Given the description of an element on the screen output the (x, y) to click on. 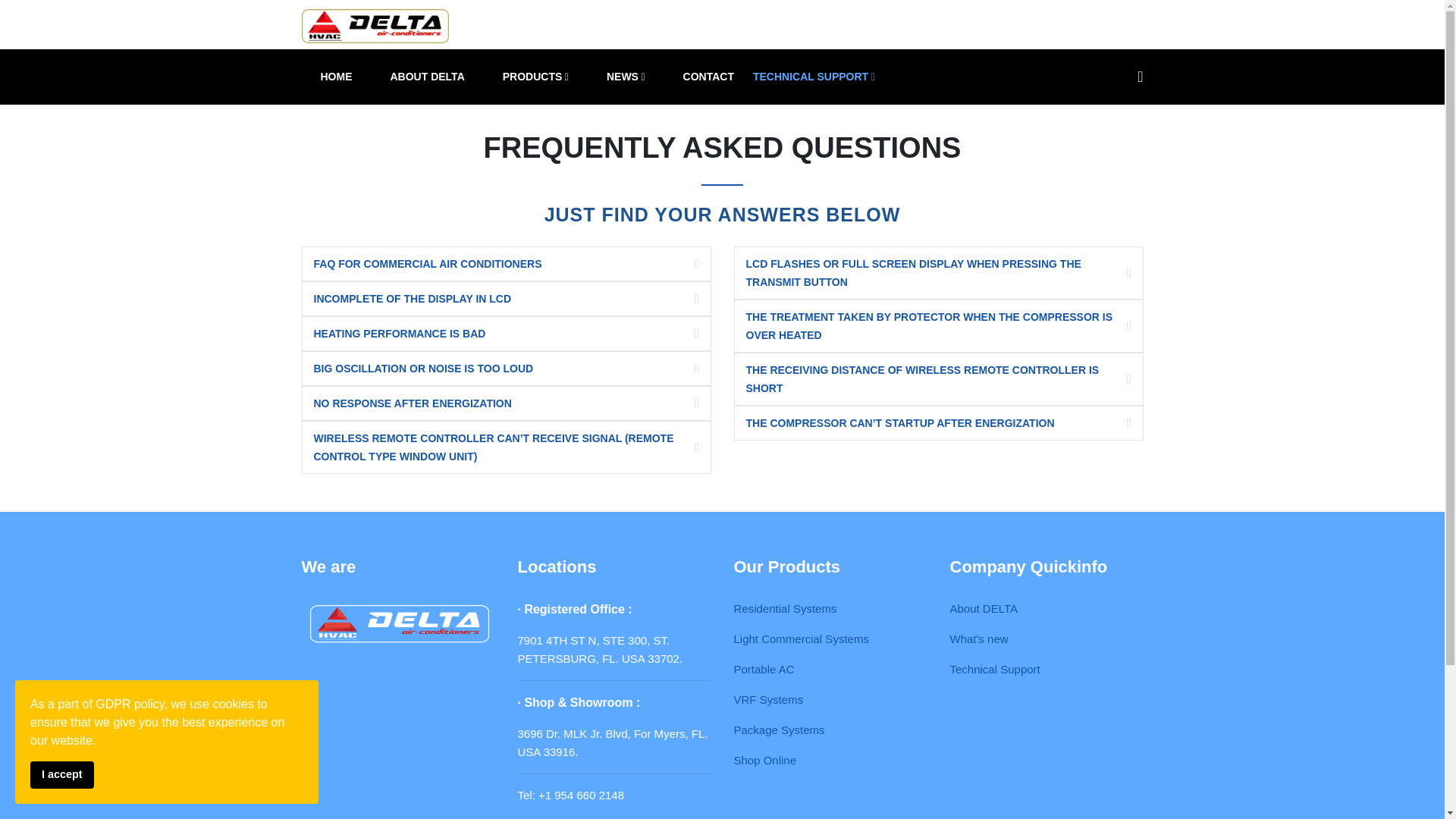
PRODUCTS (535, 76)
Light Commercial Systems (801, 638)
Shop Online (764, 759)
About DELTA (983, 608)
HOME (336, 76)
VRF Systems (768, 698)
Technical Support (994, 668)
What's new (978, 638)
CONTACT (707, 76)
Package Systems (779, 729)
